Given the description of an element on the screen output the (x, y) to click on. 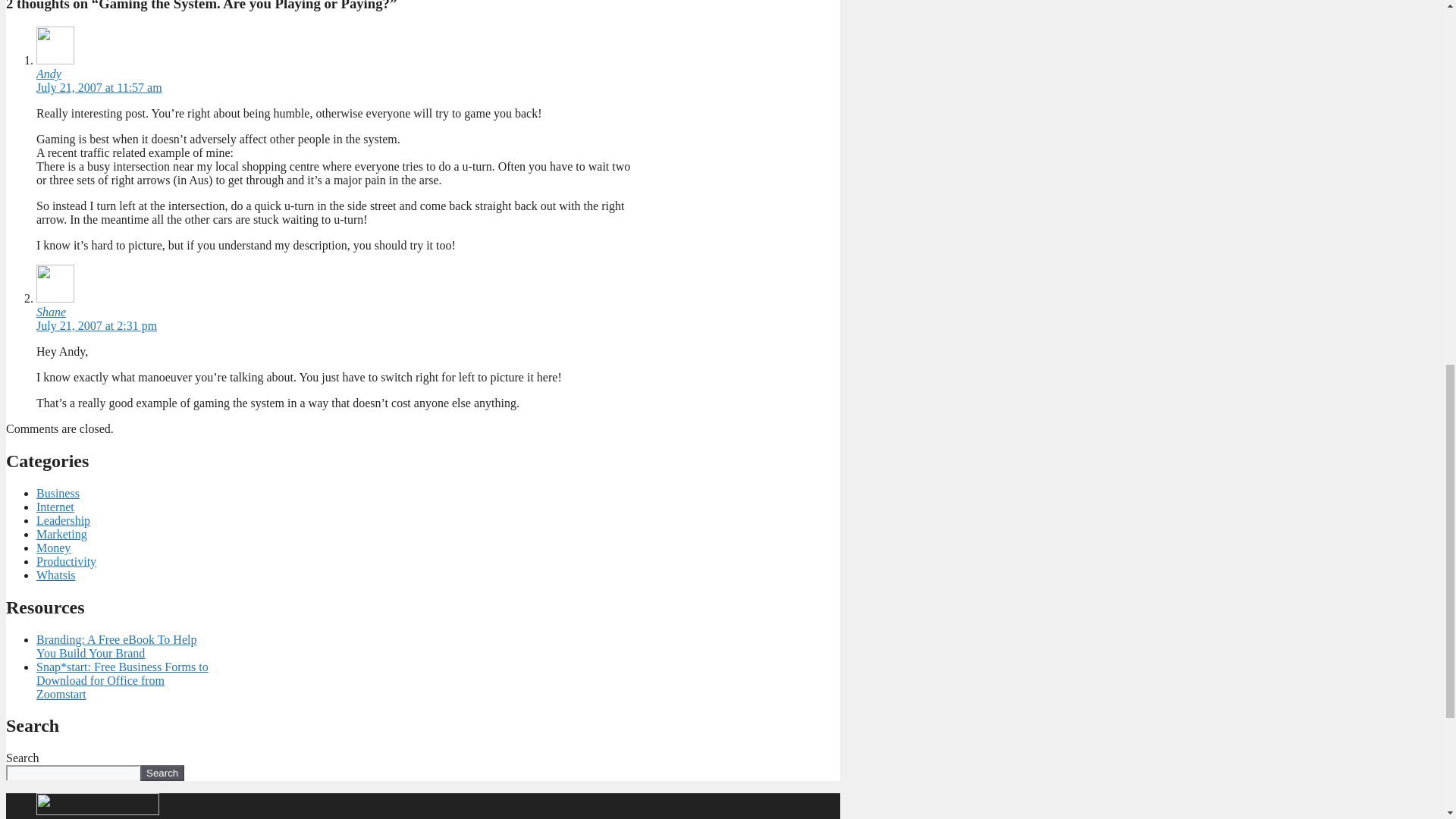
Shane (50, 311)
Andy (48, 73)
Money (52, 547)
Business (58, 492)
Marketing (61, 533)
Internet (55, 506)
Leadership (63, 520)
July 21, 2007 at 2:31 pm (96, 325)
July 21, 2007 at 11:57 am (98, 87)
Whatsis (55, 574)
